Given the description of an element on the screen output the (x, y) to click on. 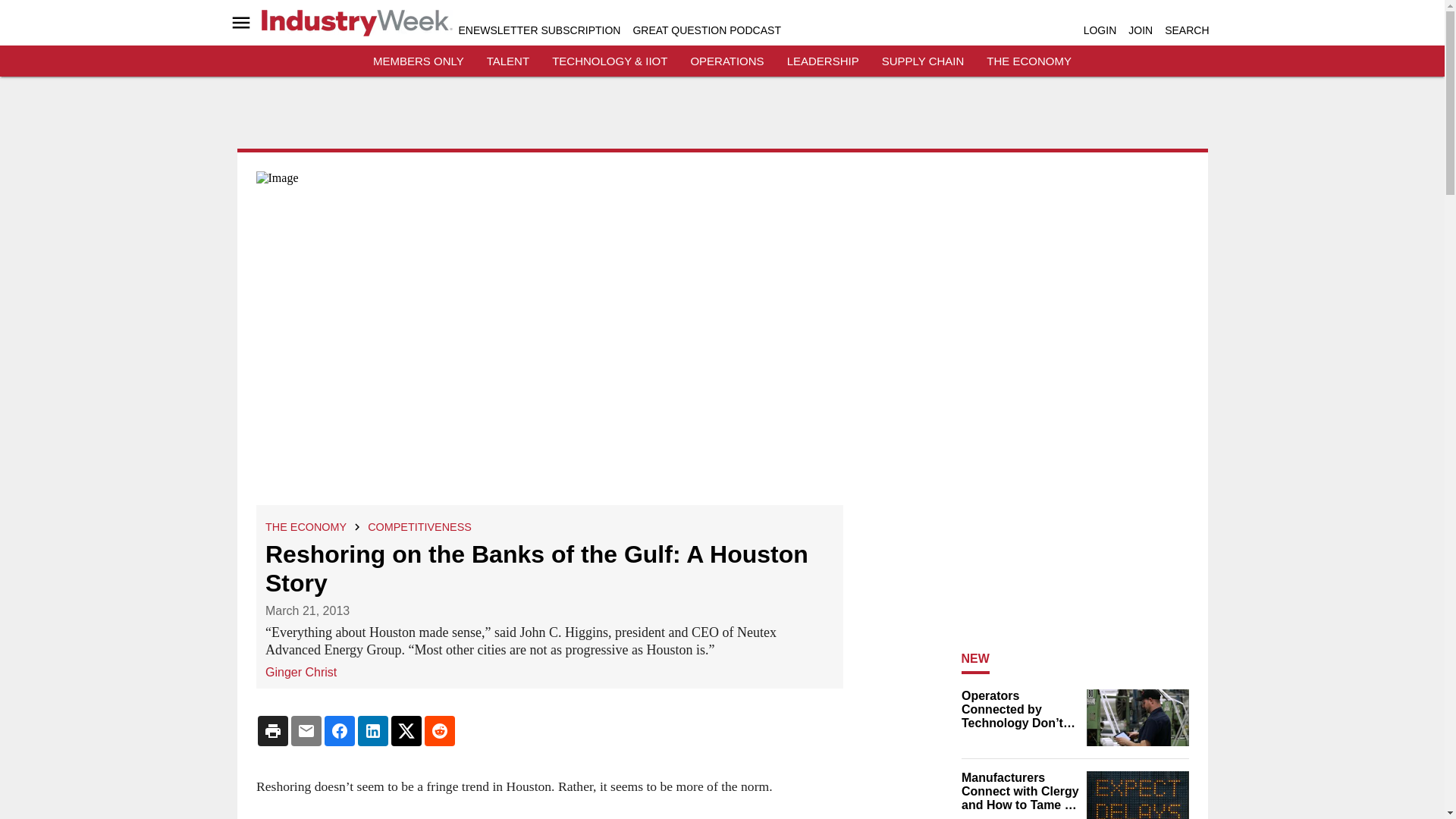
JOIN (1140, 30)
MEMBERS ONLY (418, 60)
SUPPLY CHAIN (922, 60)
TALENT (507, 60)
LEADERSHIP (823, 60)
THE ECONOMY (305, 526)
GREAT QUESTION PODCAST (705, 30)
OPERATIONS (726, 60)
ENEWSLETTER SUBSCRIPTION (539, 30)
